Given the description of an element on the screen output the (x, y) to click on. 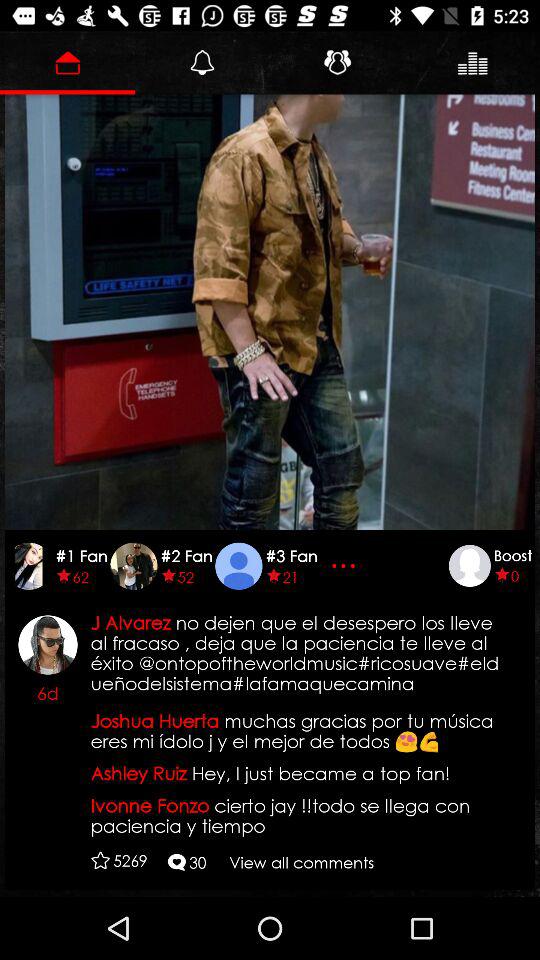
press the icon to the right of the #3 fan (346, 565)
